Given the description of an element on the screen output the (x, y) to click on. 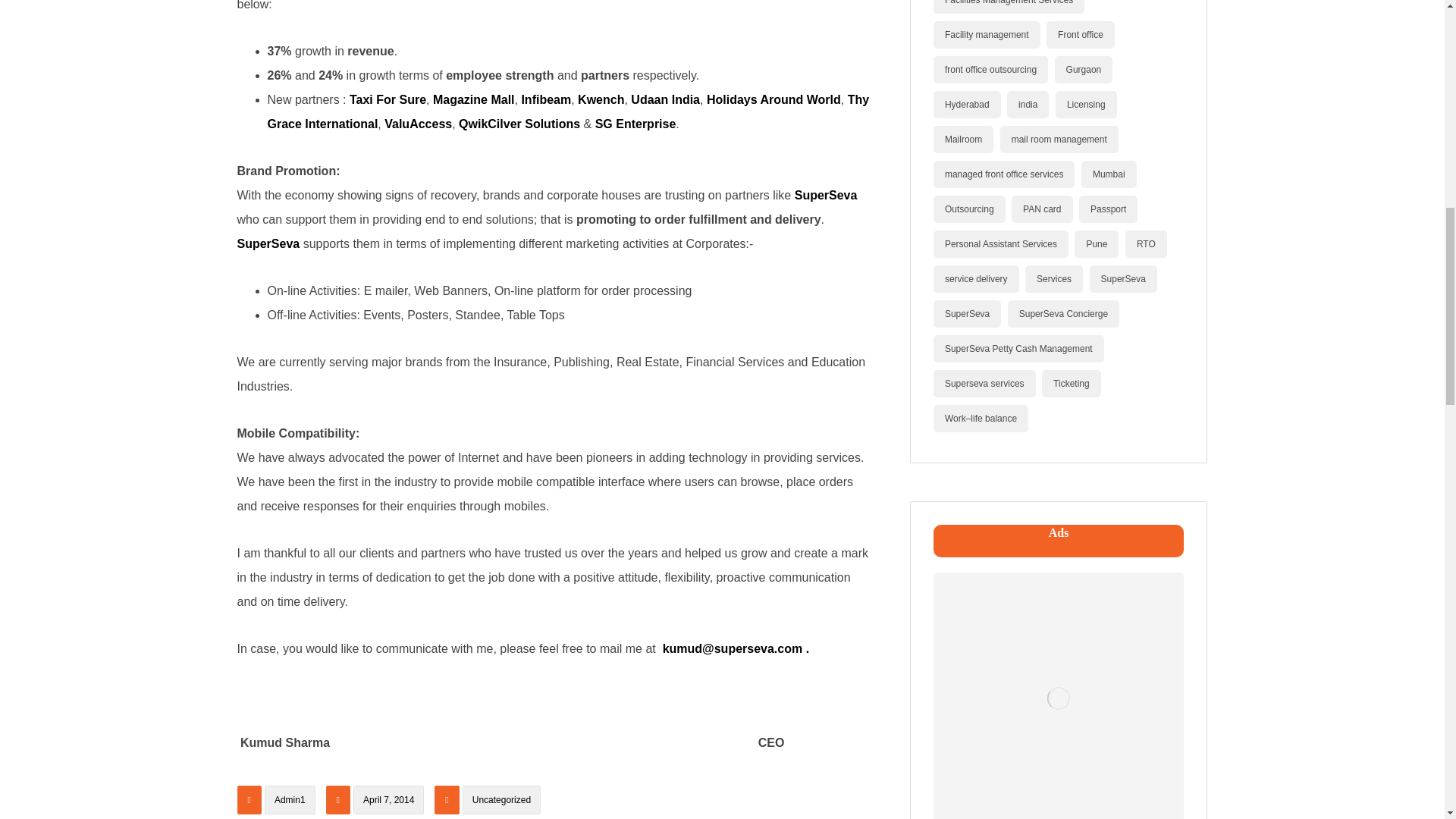
Ads (1058, 695)
Posted by (276, 802)
Published on (377, 802)
